Given the description of an element on the screen output the (x, y) to click on. 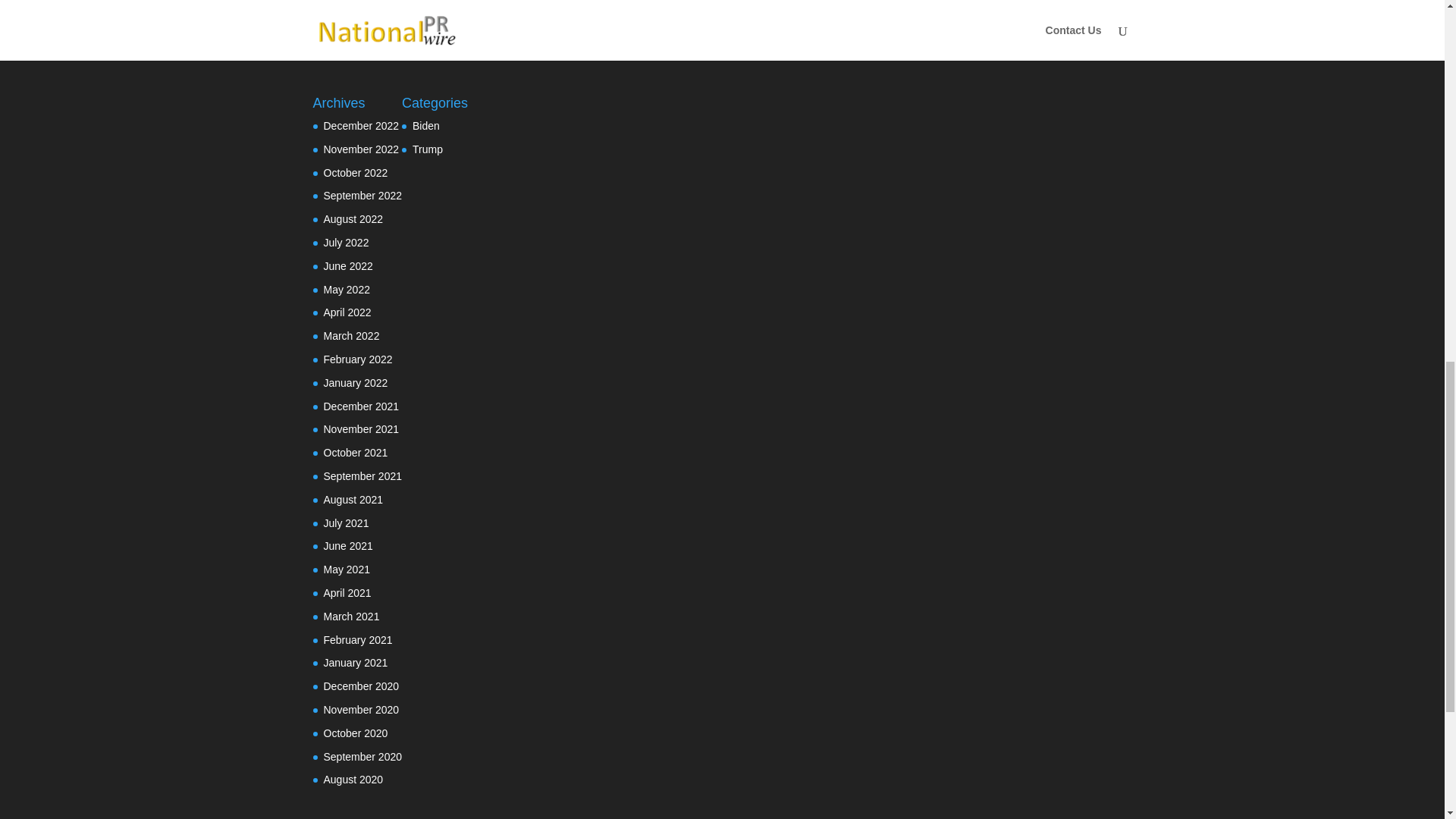
January 2021 (355, 662)
October 2022 (355, 173)
February 2022 (357, 358)
January 2022 (355, 382)
June 2022 (347, 265)
April 2022 (347, 312)
September 2022 (362, 195)
February 2021 (357, 639)
March 2021 (350, 616)
October 2021 (355, 452)
